Given the description of an element on the screen output the (x, y) to click on. 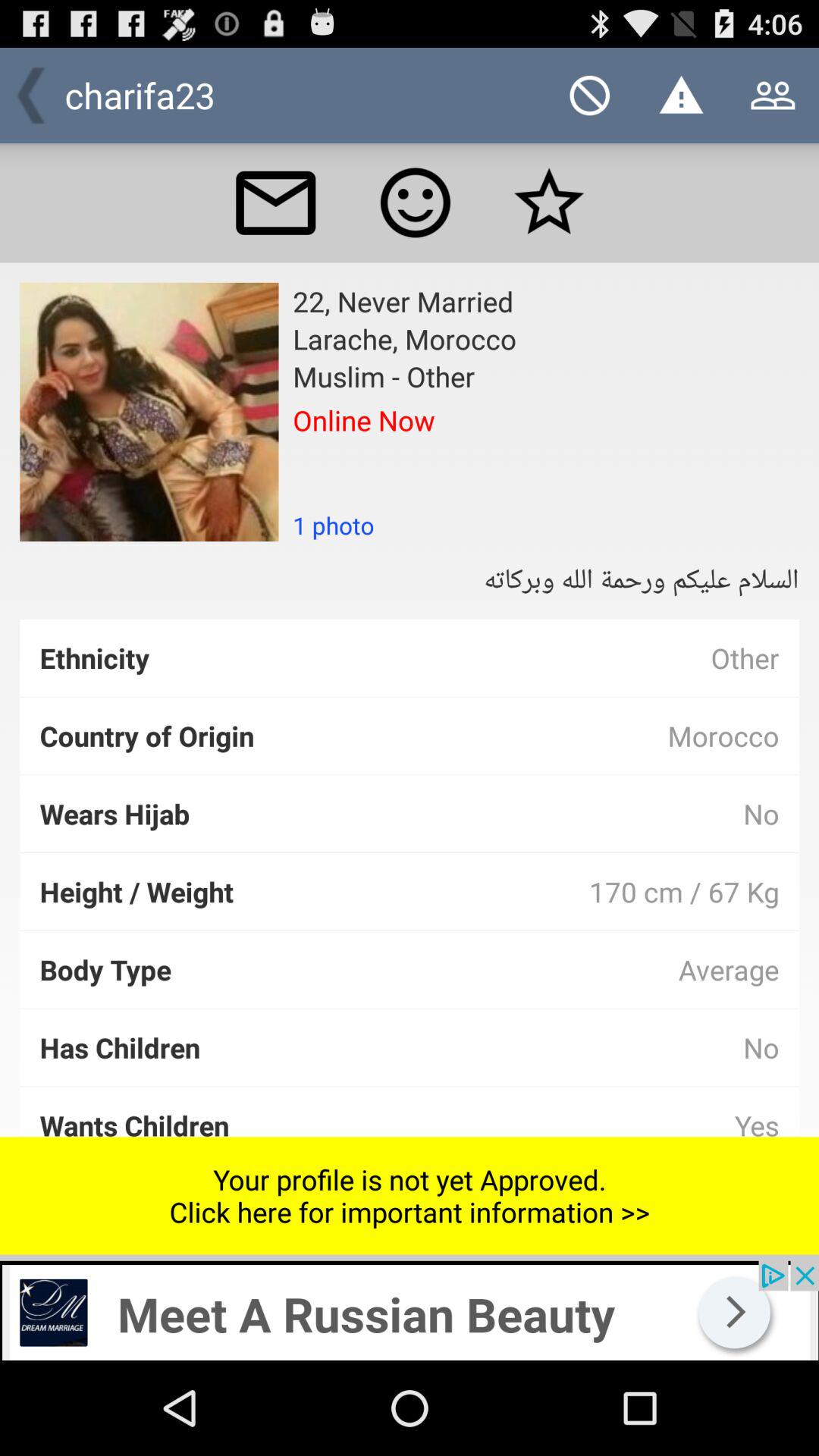
advertisement page (409, 1310)
